Given the description of an element on the screen output the (x, y) to click on. 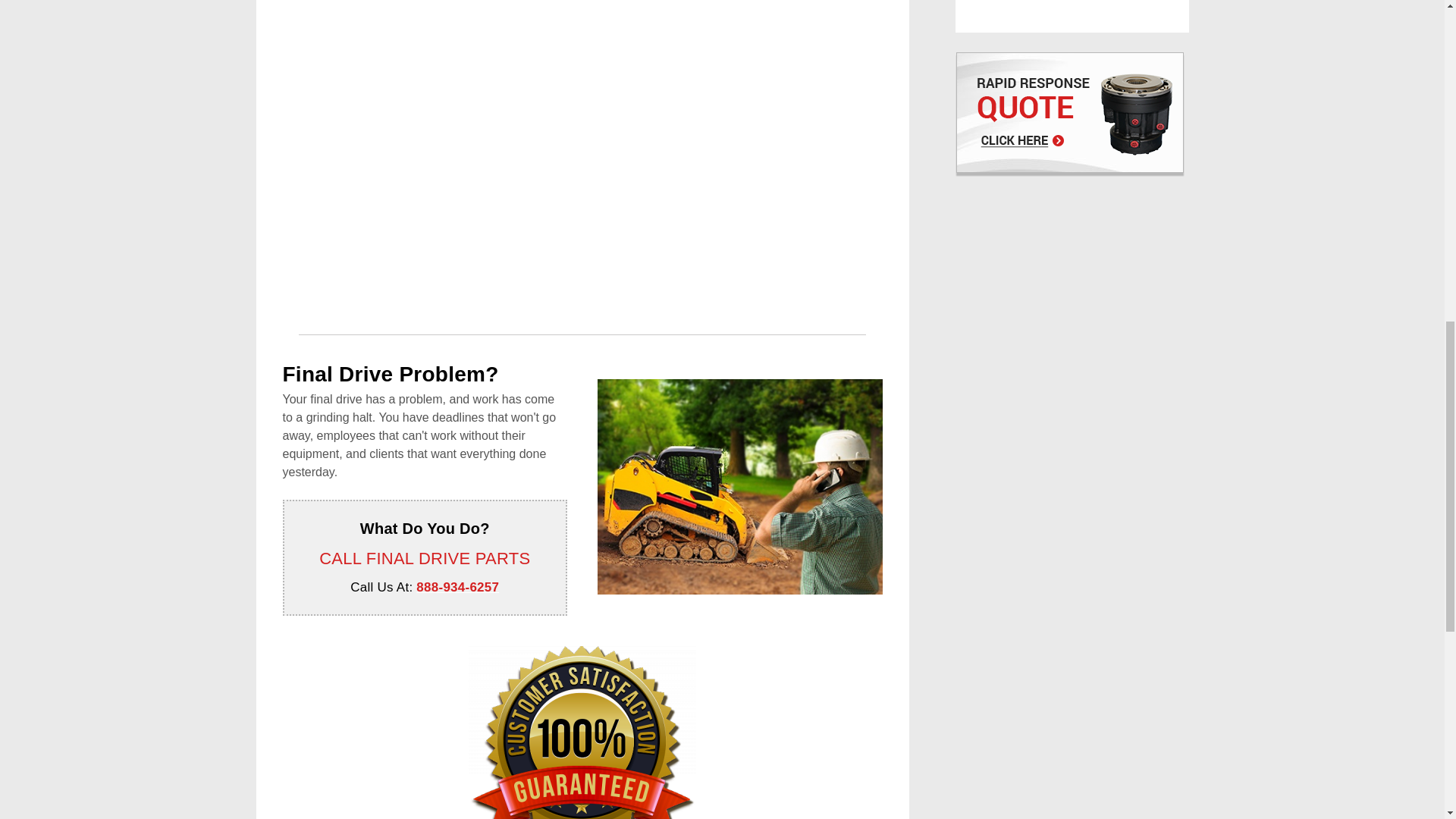
Call Us Now! (457, 586)
